Given the description of an element on the screen output the (x, y) to click on. 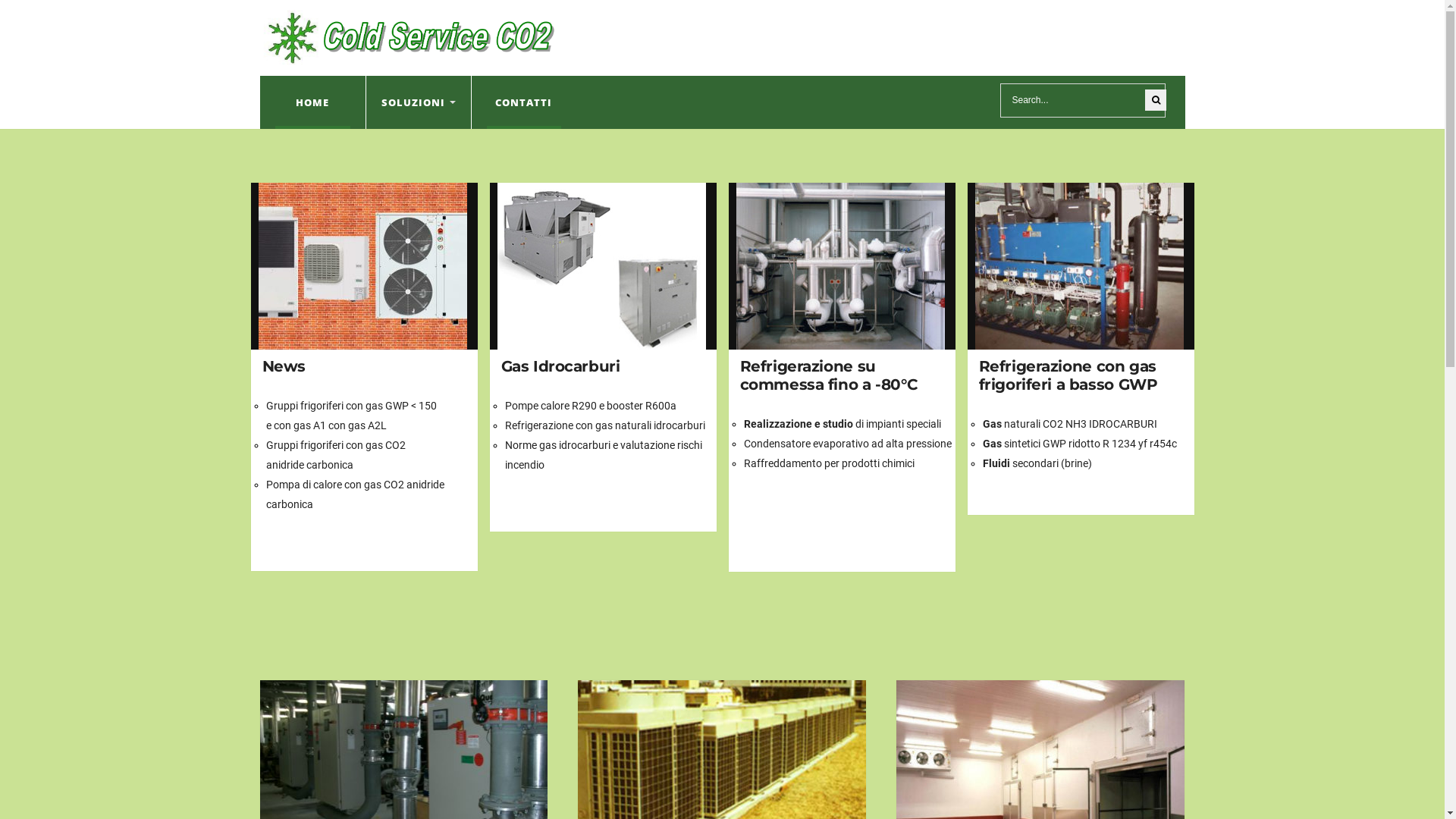
CONTATTI Element type: text (523, 101)
Refrigerazione con gas frigoriferi a basso GWP Element type: text (1067, 375)
Condensatore evaporativo ad alta pressione Element type: text (846, 443)
Pompe calore R290 e booster R600a Element type: text (590, 405)
Gas Idrocarburi Element type: text (559, 366)
Realizzazione e studio di impianti speciali Element type: text (841, 423)
Gas sintetici GWP ridotto R 1234 yf r454c Element type: text (1079, 443)
HOME Element type: text (311, 101)
Gas Idrocarburi Element type: hover (606, 265)
Raffreddamento per prodotti chimici Element type: text (828, 463)
News Element type: text (283, 366)
News Element type: hover (366, 265)
Pompa di calore con gas CO2 anidride carbonica Element type: text (354, 494)
Gas naturali CO2 NH3 IDROCARBURI Element type: text (1069, 423)
SOLUZIONI Element type: text (418, 101)
Fluidi secondari (brine) Element type: text (1037, 463)
Norme gas idrocarburi e valutazione rischi incendio Element type: text (603, 454)
Refrigerazione con gas naturali idrocarburi Element type: text (605, 425)
Gruppi frigoriferi con gas CO2
anidride carbonica Element type: text (334, 454)
Refrigerazione con gas frigoriferi a basso GWP Element type: hover (1084, 265)
